Given the description of an element on the screen output the (x, y) to click on. 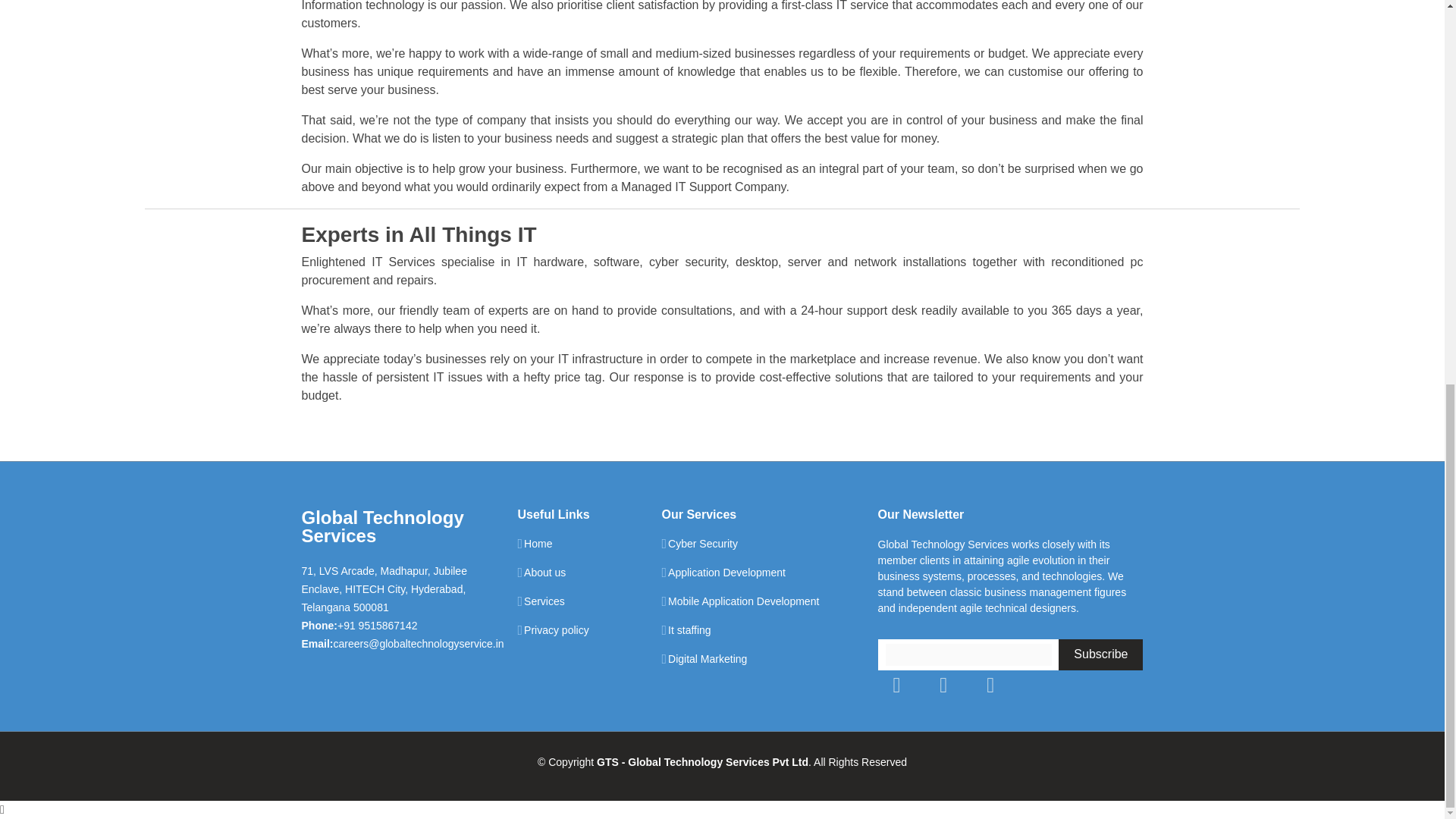
Services (544, 601)
Home (537, 543)
Digital Marketing (707, 658)
About us (545, 572)
Application Development (727, 572)
Subscribe (1100, 654)
It staffing (689, 629)
Subscribe (1100, 654)
Mobile Application Development (743, 601)
Cyber Security (703, 543)
Privacy policy (556, 629)
